Given the description of an element on the screen output the (x, y) to click on. 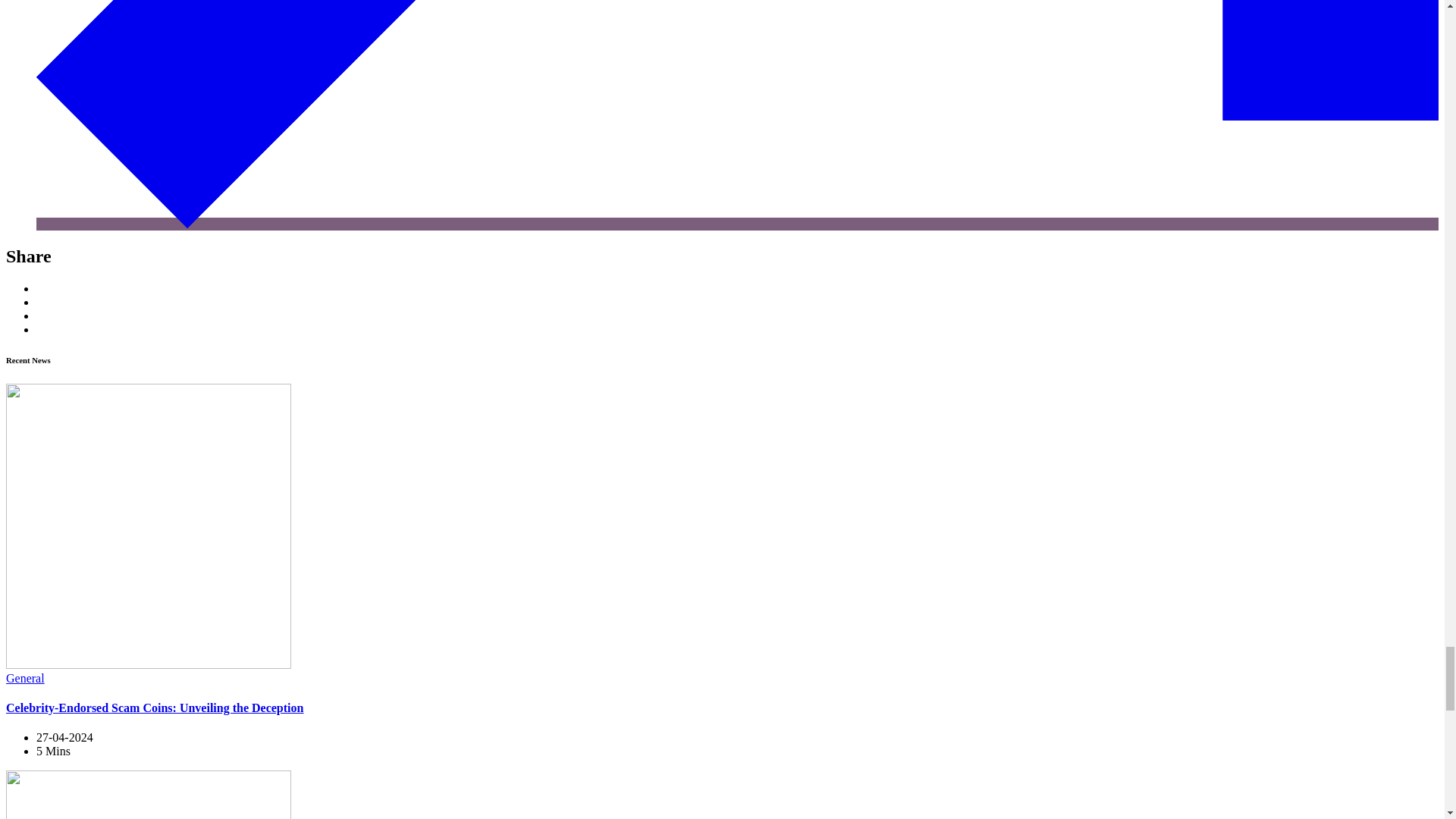
Celebrity-Endorsed Scam Coins: Unveiling the Deception (153, 707)
General (25, 677)
